Given the description of an element on the screen output the (x, y) to click on. 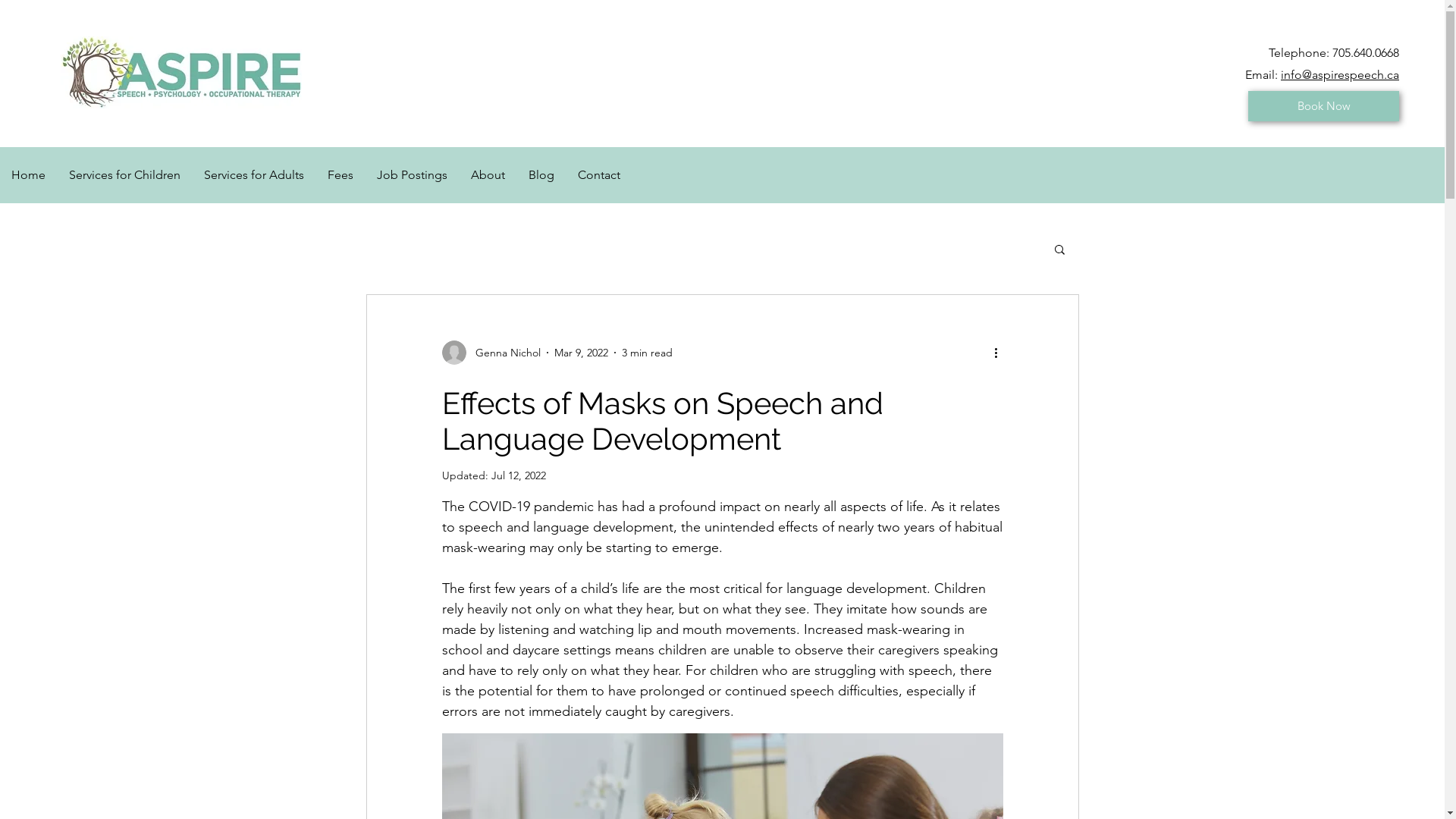
Fees Element type: text (339, 175)
Contact Element type: text (598, 175)
Book Now Element type: text (1323, 106)
info@aspirespeech.ca Element type: text (1339, 74)
Services for Children Element type: text (123, 175)
Job Postings Element type: text (411, 175)
Blog Element type: text (540, 175)
Services for Adults Element type: text (253, 175)
705.640.0668 Element type: text (1365, 52)
About Element type: text (487, 175)
Home Element type: text (28, 175)
